Given the description of an element on the screen output the (x, y) to click on. 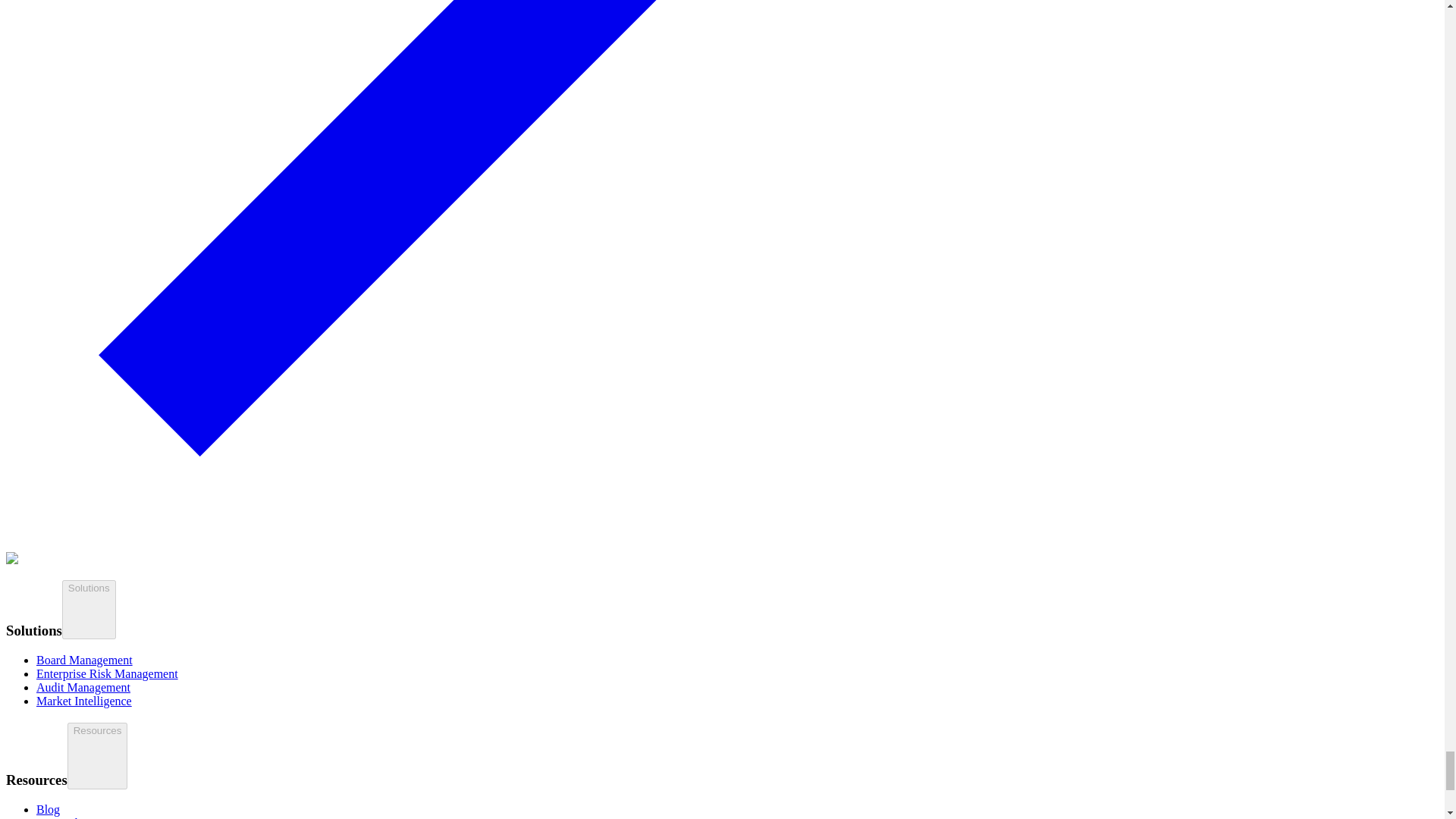
Resources (97, 755)
Audit Management (83, 686)
Blog (47, 809)
Enterprise Risk Management (106, 673)
Solutions (89, 609)
Board Management (84, 659)
Market Intelligence (84, 700)
